Given the description of an element on the screen output the (x, y) to click on. 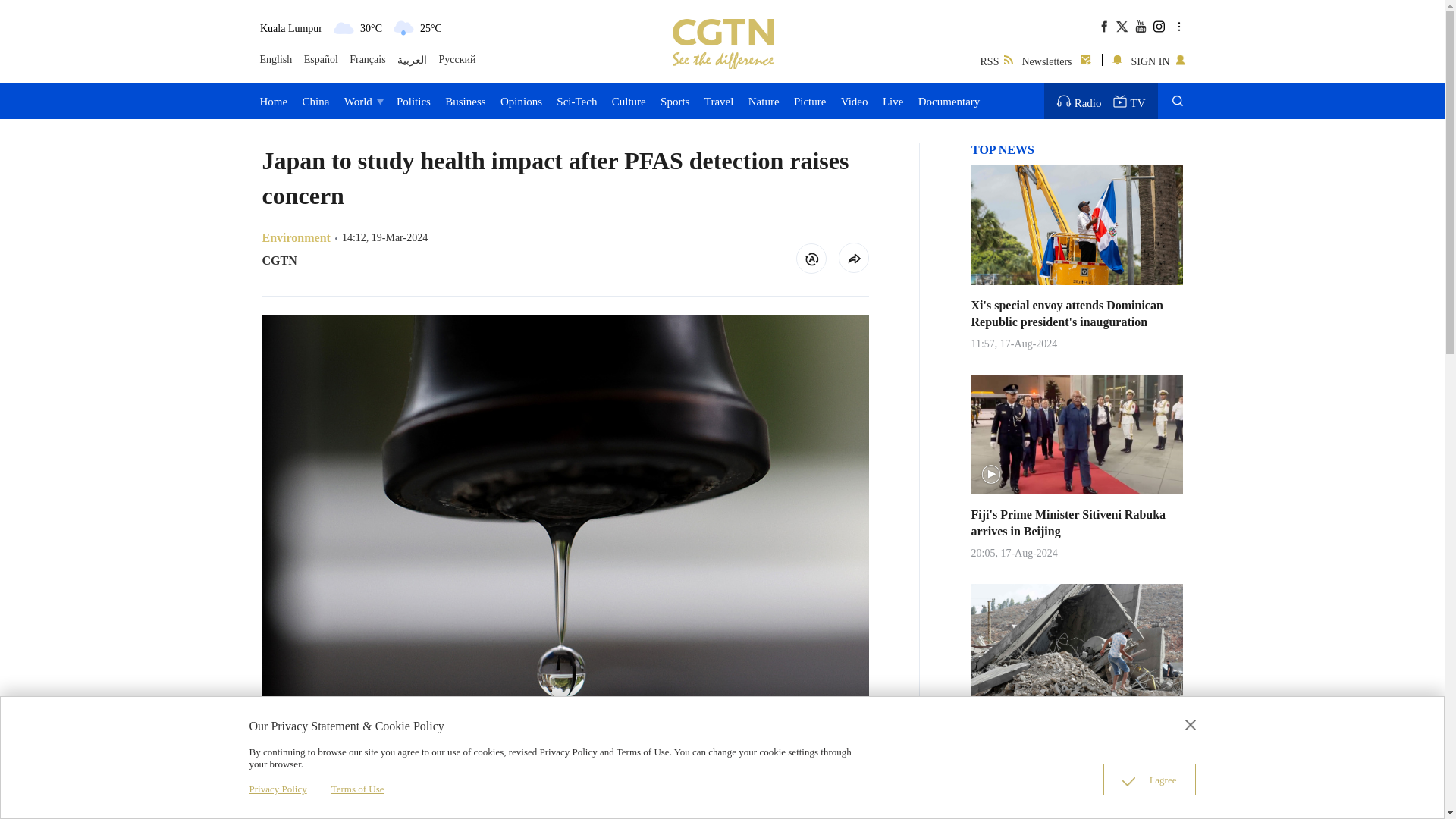
Newsletters (1057, 59)
RSS (995, 59)
Overcast (343, 27)
Business (464, 100)
Sci-Tech (576, 100)
Politics (413, 100)
Picture (810, 100)
Culture (628, 100)
Opinions (520, 100)
Light rain (402, 27)
